Given the description of an element on the screen output the (x, y) to click on. 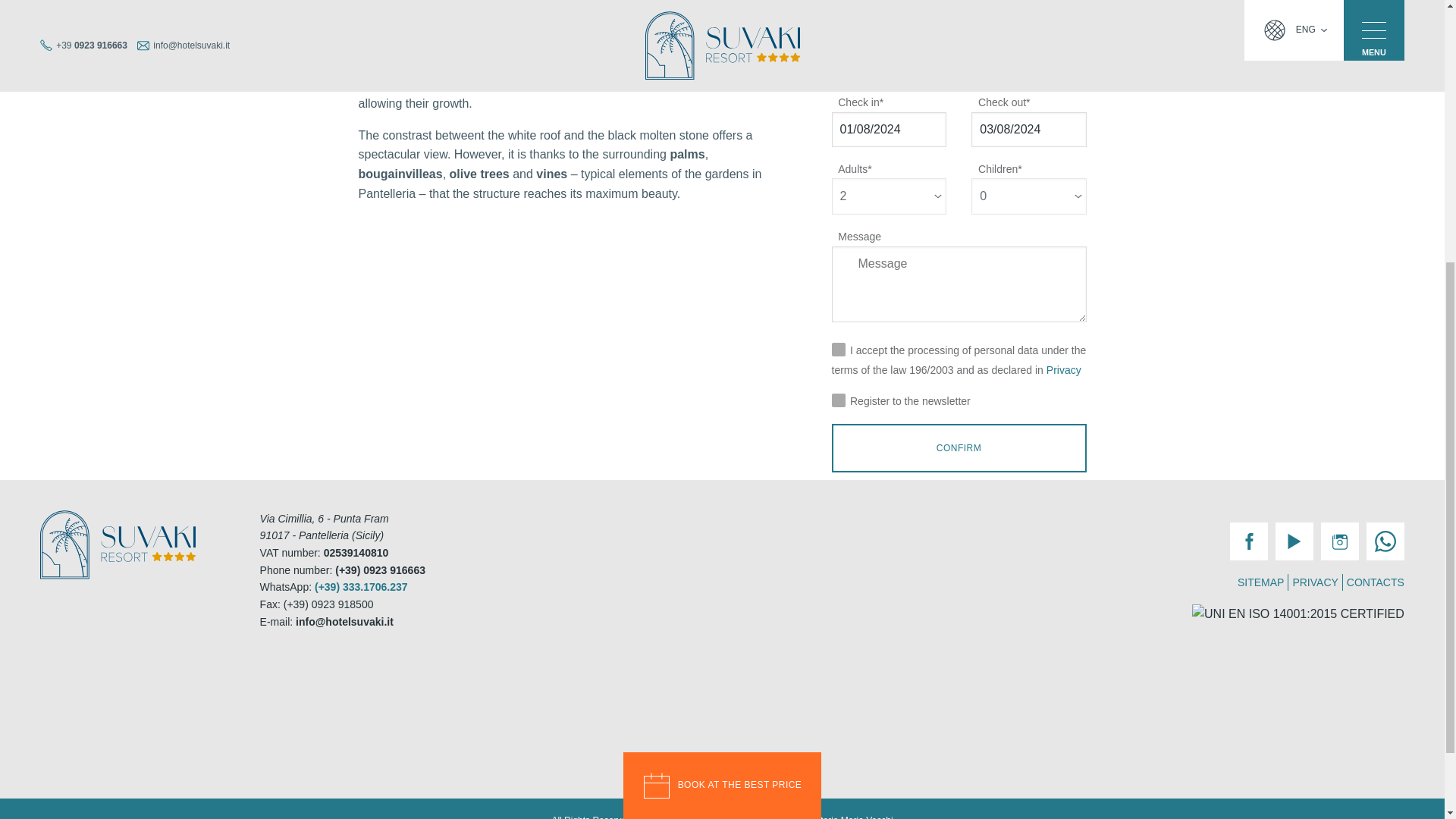
SITEMAP (1260, 582)
Follow us on Facebook (1249, 541)
BOOK AT THE BEST PRICE (722, 366)
Book at the best price (722, 366)
on (939, 327)
Privacy (1063, 369)
Follow us on WhatsApp (1386, 541)
Hotel Suvaki WhatsApp (360, 586)
Follow us on Youtube (1294, 541)
Follow us on Instagram (1339, 541)
PRIVACY (1315, 582)
CONFIRM (958, 448)
Privacy (1063, 369)
CONTACTS (1375, 582)
Suvaki Resort (117, 544)
